Given the description of an element on the screen output the (x, y) to click on. 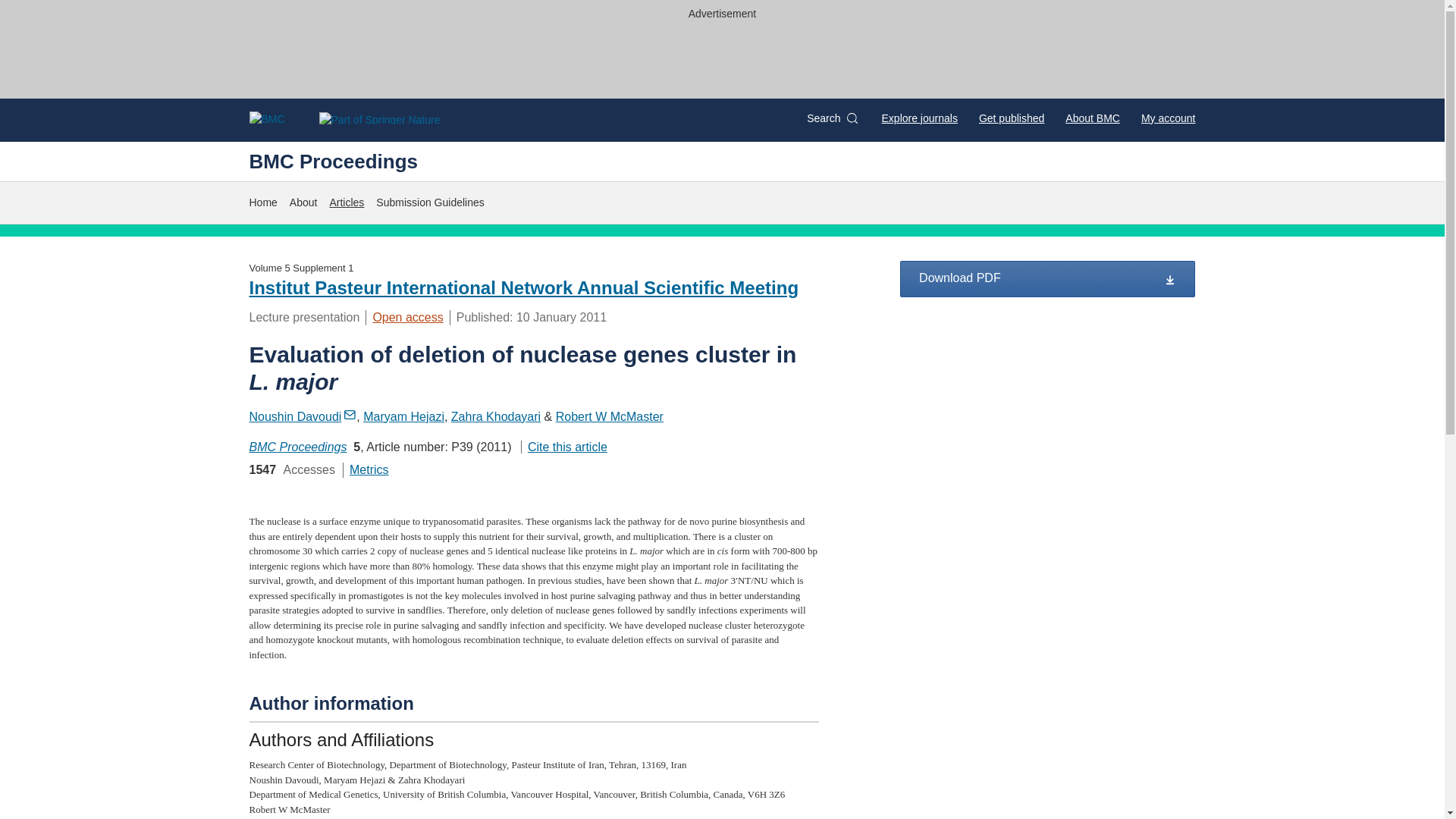
About (303, 202)
Open access (407, 317)
Submission Guidelines (429, 202)
Metrics (368, 469)
Get published (1010, 118)
BMC Proceedings (332, 160)
Zahra Khodayari (495, 416)
BMC Proceedings (297, 446)
Cite this article (564, 446)
Articles (346, 202)
